Given the description of an element on the screen output the (x, y) to click on. 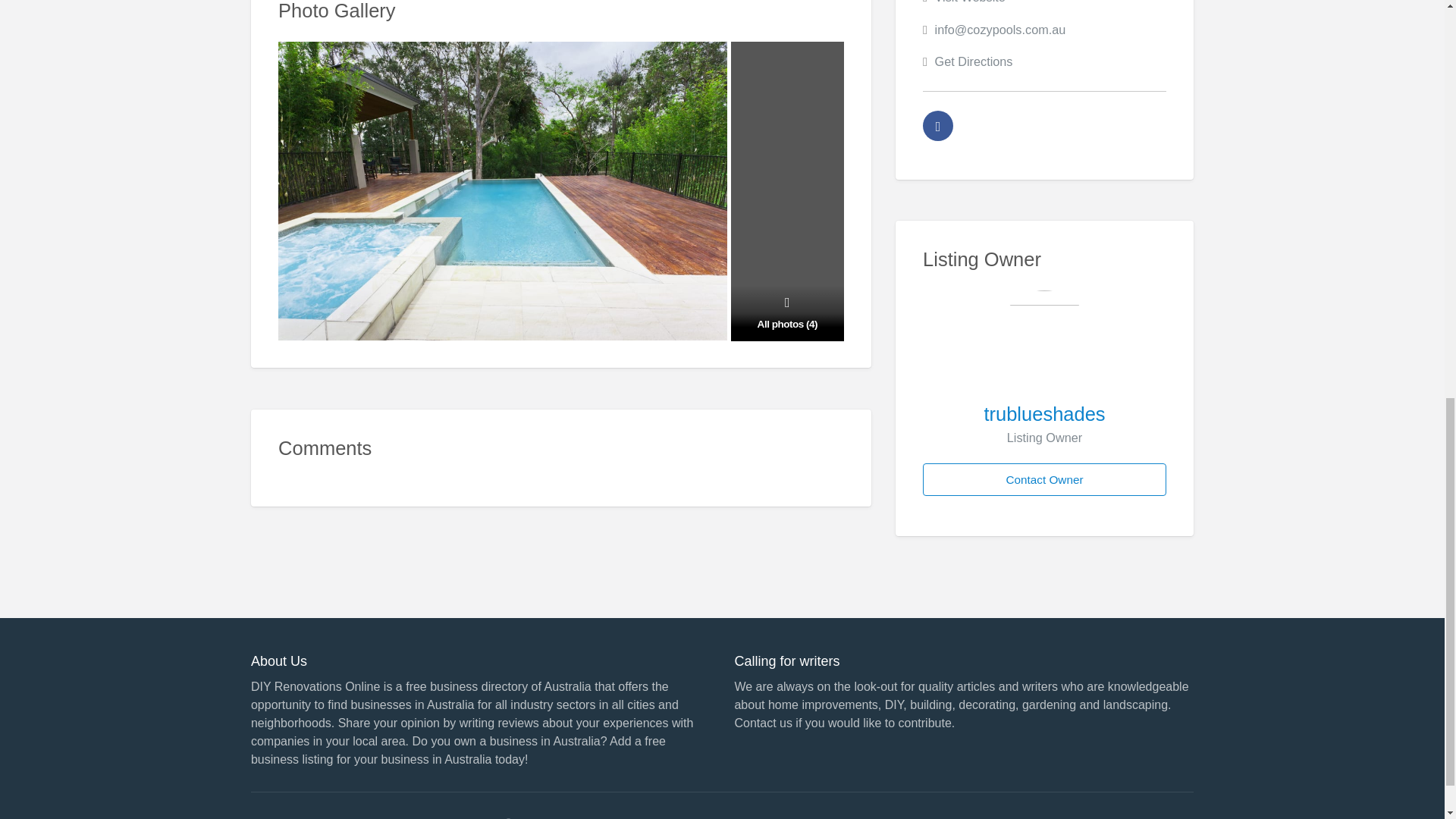
Facebook (938, 125)
